Given the description of an element on the screen output the (x, y) to click on. 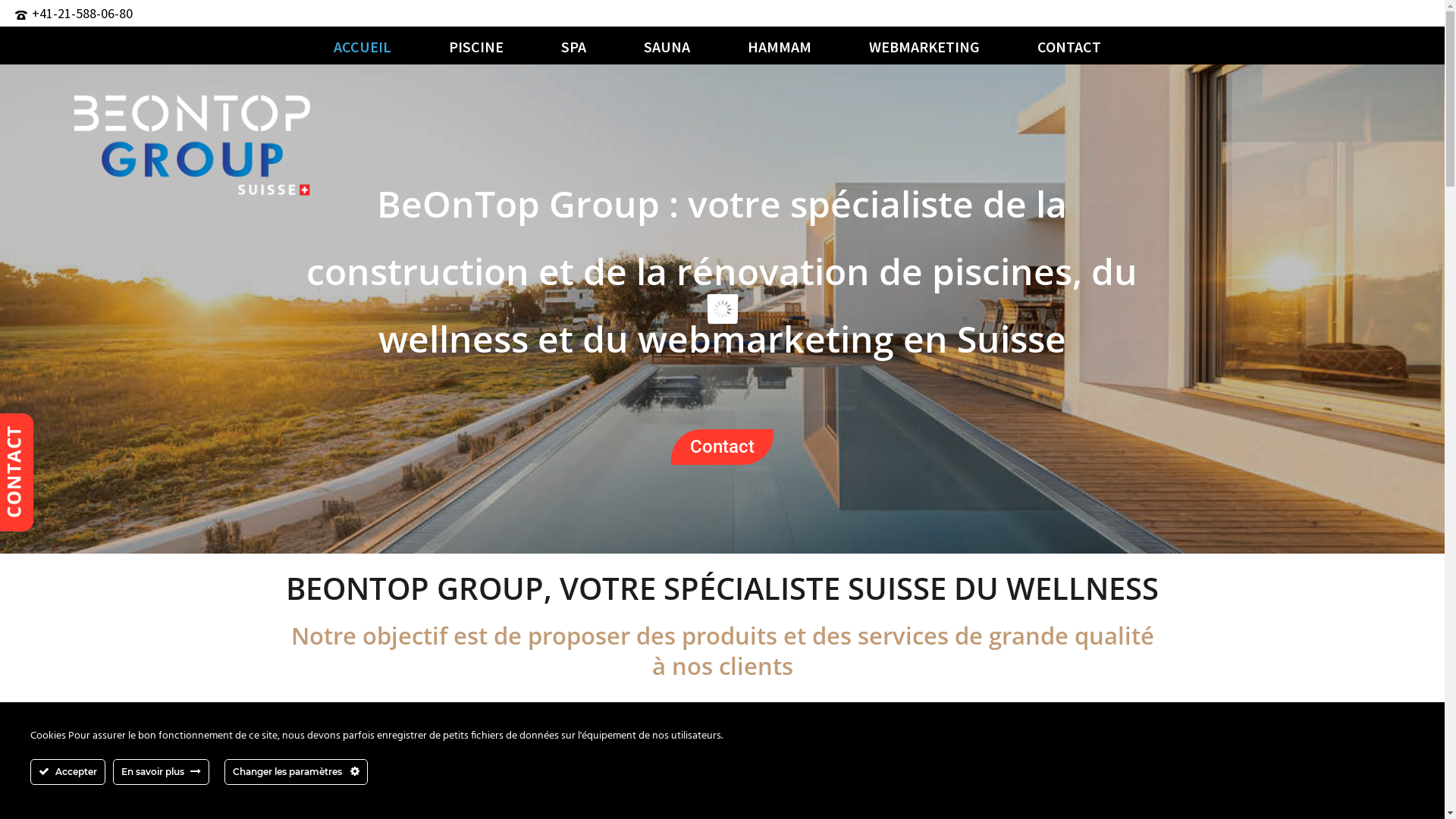
SAUNA Element type: text (666, 45)
SPA Element type: text (573, 45)
CONTACT Element type: text (1068, 45)
ACCUEIL Element type: text (362, 45)
Contact Element type: text (722, 446)
+41-21-588-06-80 Element type: text (81, 12)
HAMMAM Element type: text (779, 45)
WEBMARKETING Element type: text (924, 45)
PISCINE Element type: text (476, 45)
